Given the description of an element on the screen output the (x, y) to click on. 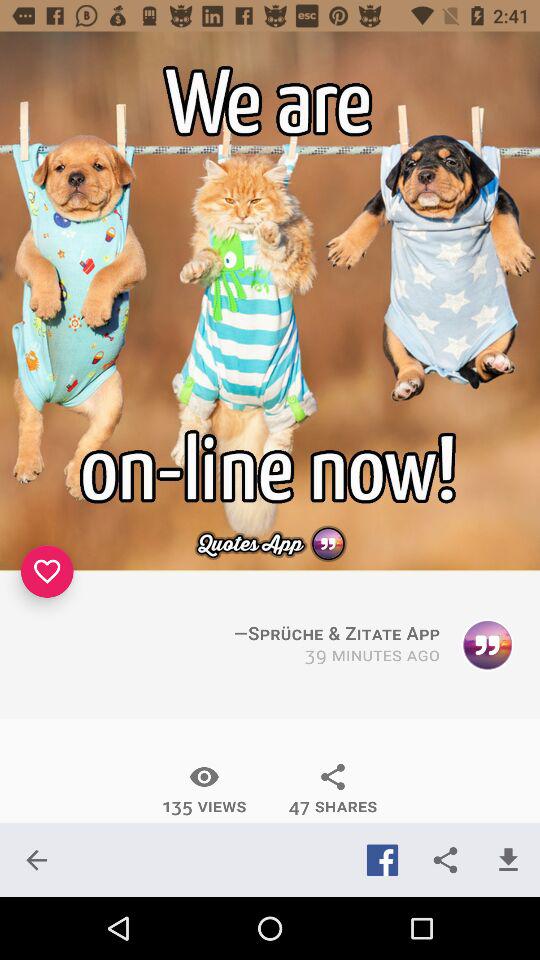
flip until 39 minutes ago item (372, 655)
